Given the description of an element on the screen output the (x, y) to click on. 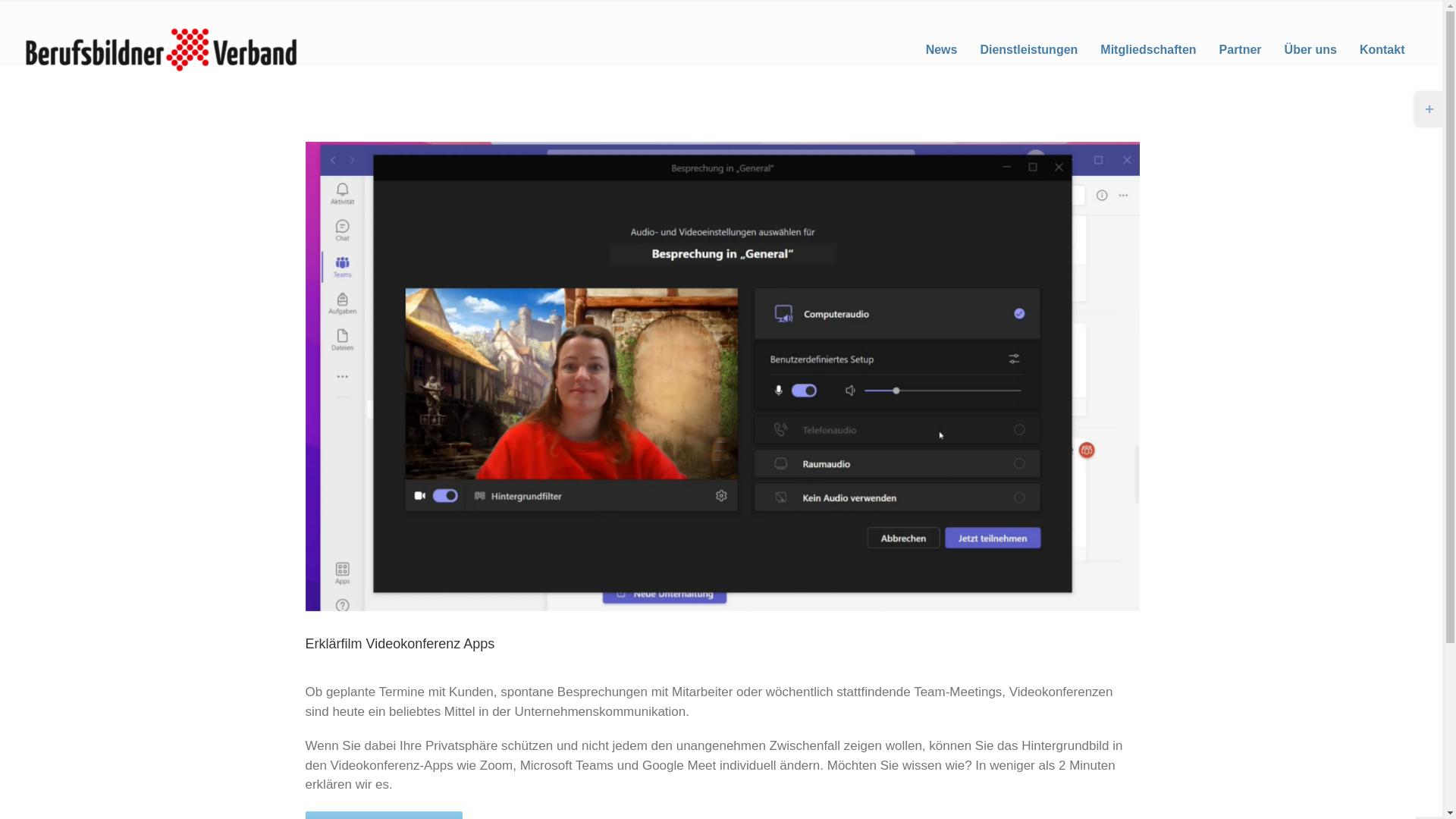
Toggle Sliding Bar Area Element type: text (1428, 109)
Mitgliedschaften Element type: text (1148, 49)
News Element type: text (941, 49)
View Larger Image Element type: text (721, 376)
Kontakt Element type: text (1381, 49)
Dienstleistungen Element type: text (1028, 49)
Partner Element type: text (1240, 49)
